Given the description of an element on the screen output the (x, y) to click on. 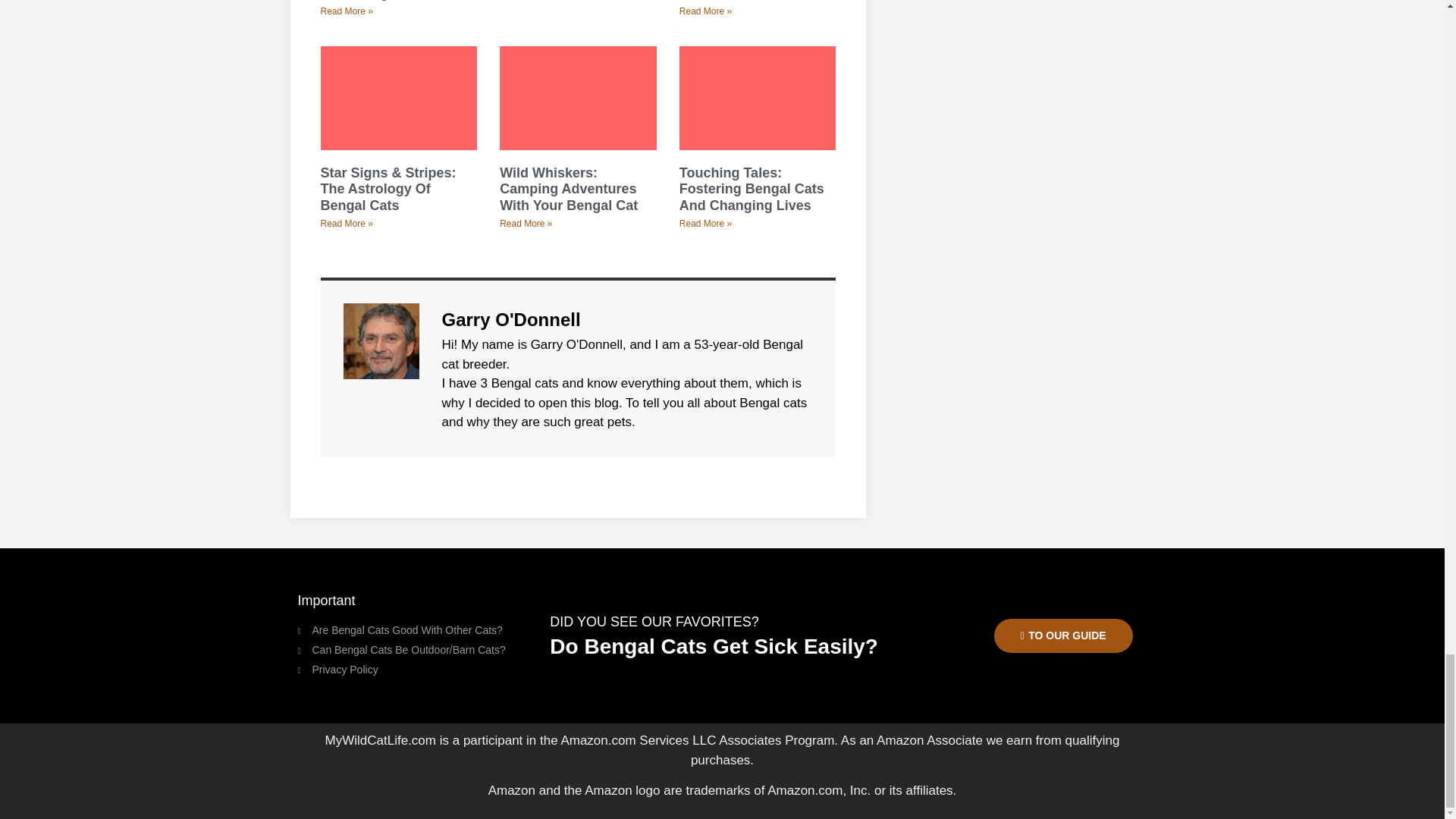
Wild Whiskers: Camping Adventures With Your Bengal Cat (568, 188)
Touching Tales: Fostering Bengal Cats And Changing Lives (751, 188)
